Given the description of an element on the screen output the (x, y) to click on. 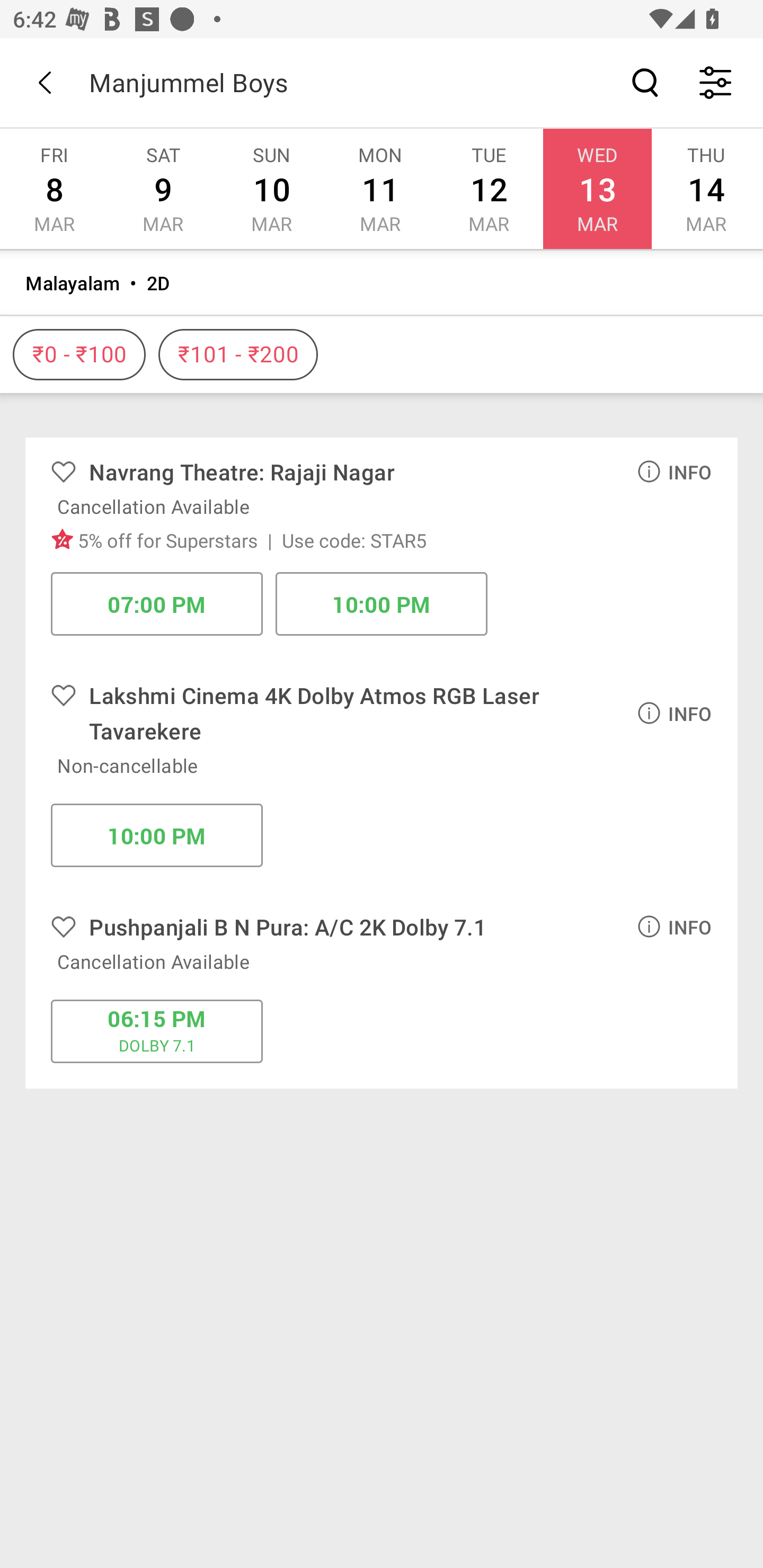
Back Manjummel Boys (381, 82)
Back (44, 82)
FRI 8 MAR (54, 188)
SAT 9 MAR (162, 188)
SUN 10 MAR (271, 188)
MON 11 MAR (379, 188)
TUE 12 MAR (488, 188)
THU 14 MAR (705, 188)
Malayalam  •  2D (381, 282)
₹0 - ₹100 (78, 355)
₹101 - ₹200 (238, 355)
INFO (673, 471)
07:00 PM (156, 603)
10:00 PM (381, 603)
INFO (673, 712)
10:00 PM (156, 834)
INFO (673, 926)
06:15 PM DOLBY 7.1 (156, 1031)
